Given the description of an element on the screen output the (x, y) to click on. 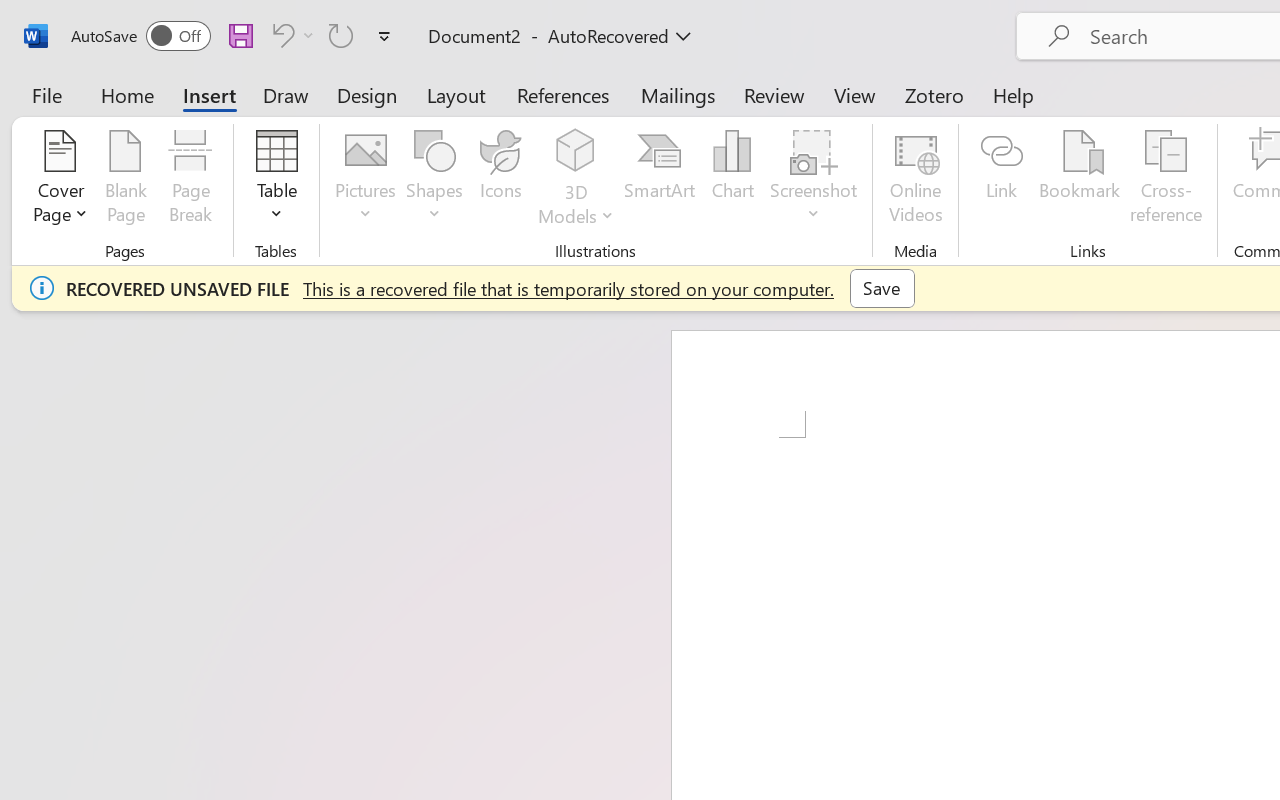
Blank Page (125, 179)
3D Models (576, 179)
Pictures (365, 179)
Chart... (732, 179)
Link (1001, 179)
Cross-reference... (1165, 179)
Bookmark... (1079, 179)
SmartArt... (659, 179)
